Given the description of an element on the screen output the (x, y) to click on. 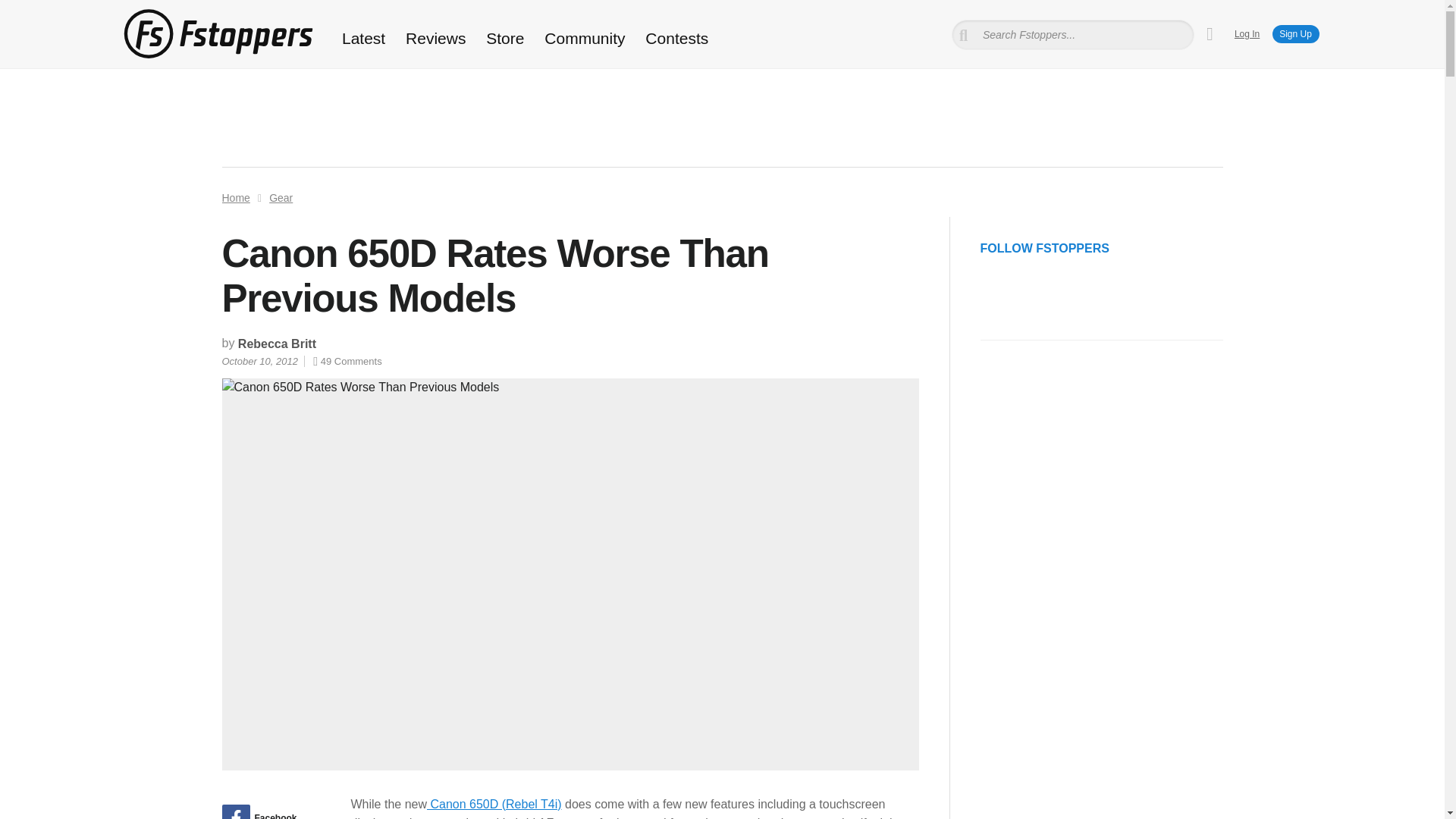
Home (234, 197)
Reviews (435, 37)
My Cart (1209, 34)
Community (585, 37)
Sign Up (1295, 34)
Gear (280, 197)
Rebecca Britt (276, 344)
Contests (676, 37)
Share on Facebook (270, 811)
Search (32, 11)
